Given the description of an element on the screen output the (x, y) to click on. 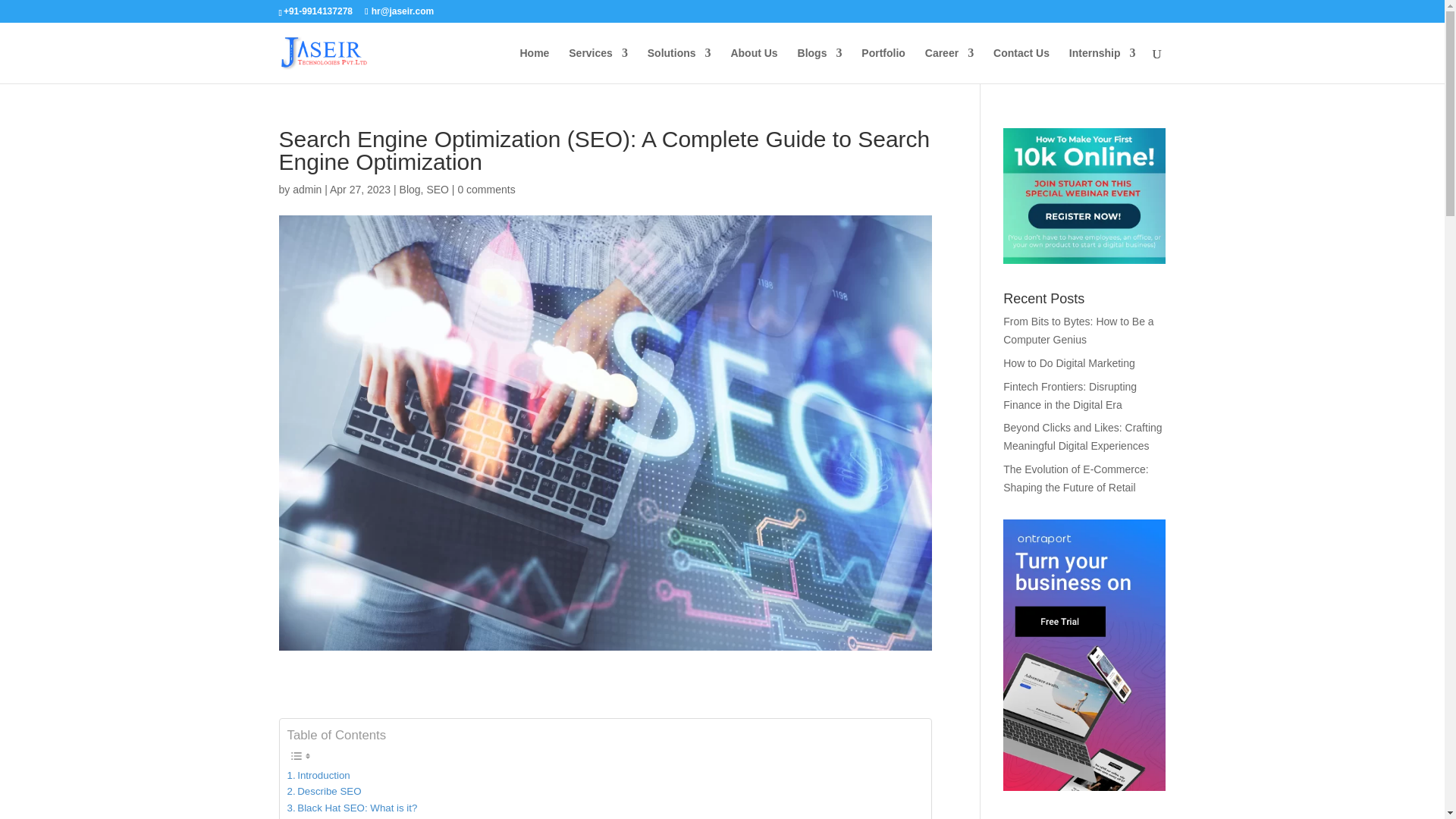
Blog (409, 189)
Describe SEO (323, 790)
Blogs (820, 65)
Describe SEO (323, 790)
Career (949, 65)
Posts by admin (306, 189)
Contact Us (1020, 65)
Services (598, 65)
Portfolio (883, 65)
White Hat SEO: What is it? (351, 817)
SEO (437, 189)
Black Hat SEO: What is it? (351, 807)
admin (306, 189)
Solutions (679, 65)
Introduction (317, 774)
